Given the description of an element on the screen output the (x, y) to click on. 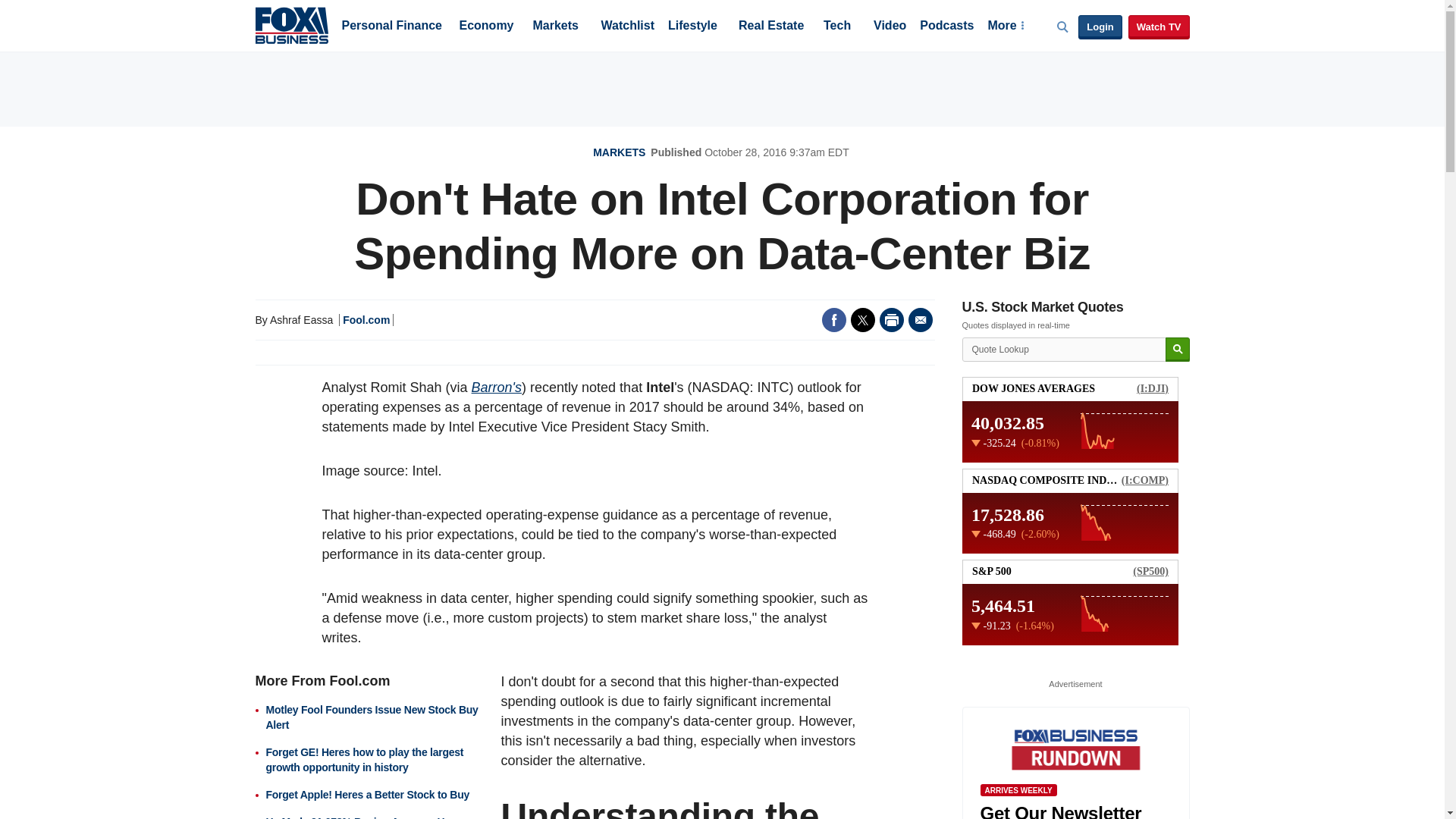
Fox Business (290, 24)
Real Estate (770, 27)
Video (889, 27)
Login (1099, 27)
Watchlist (626, 27)
Search (1176, 349)
Search (1176, 349)
More (1005, 27)
Watch TV (1158, 27)
Podcasts (947, 27)
Tech (837, 27)
Economy (486, 27)
Markets (555, 27)
Personal Finance (391, 27)
Lifestyle (692, 27)
